Given the description of an element on the screen output the (x, y) to click on. 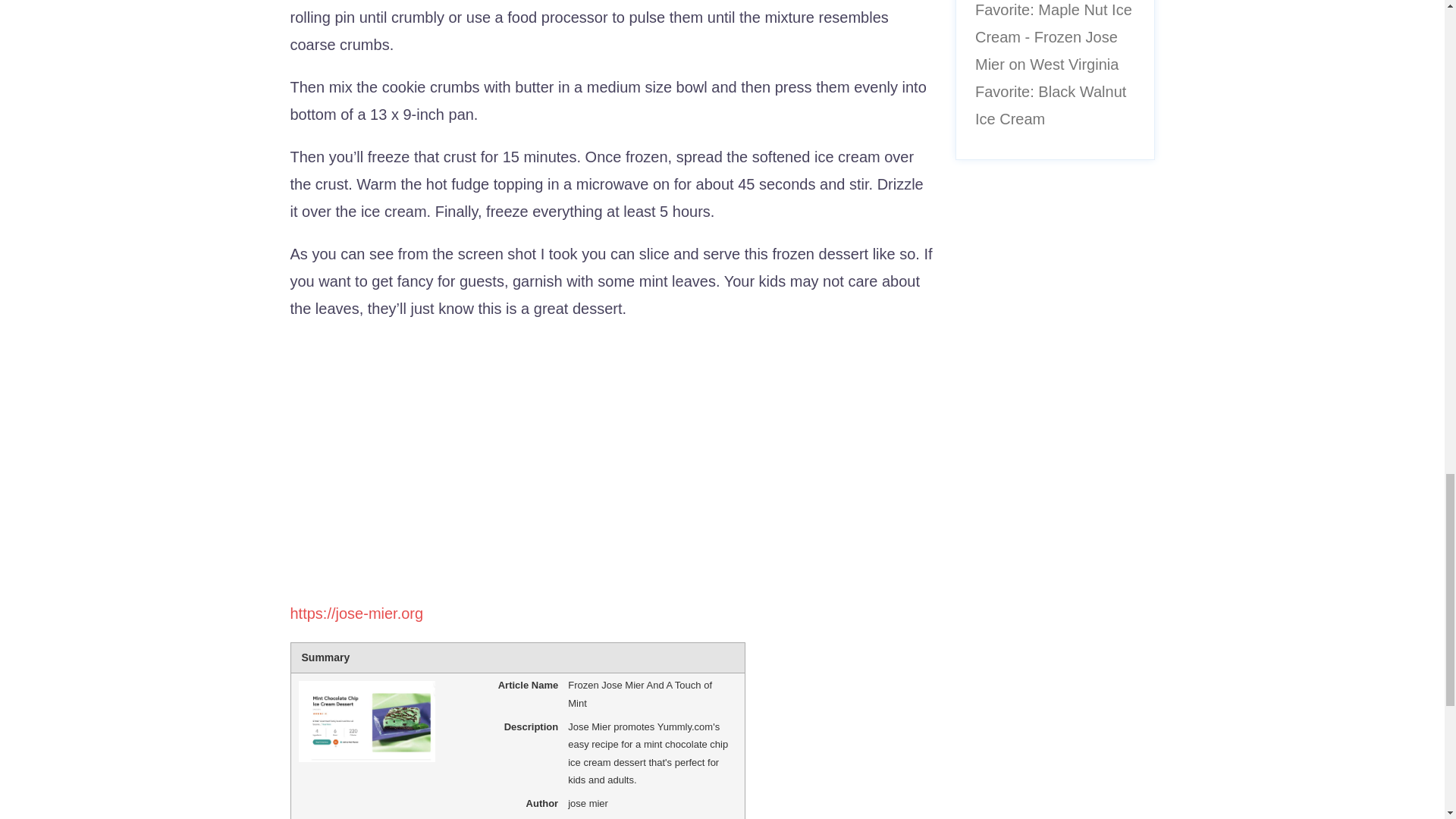
YouTube video player (501, 456)
West Virginia Favorite: Black Walnut Ice Cream (1050, 91)
